Given the description of an element on the screen output the (x, y) to click on. 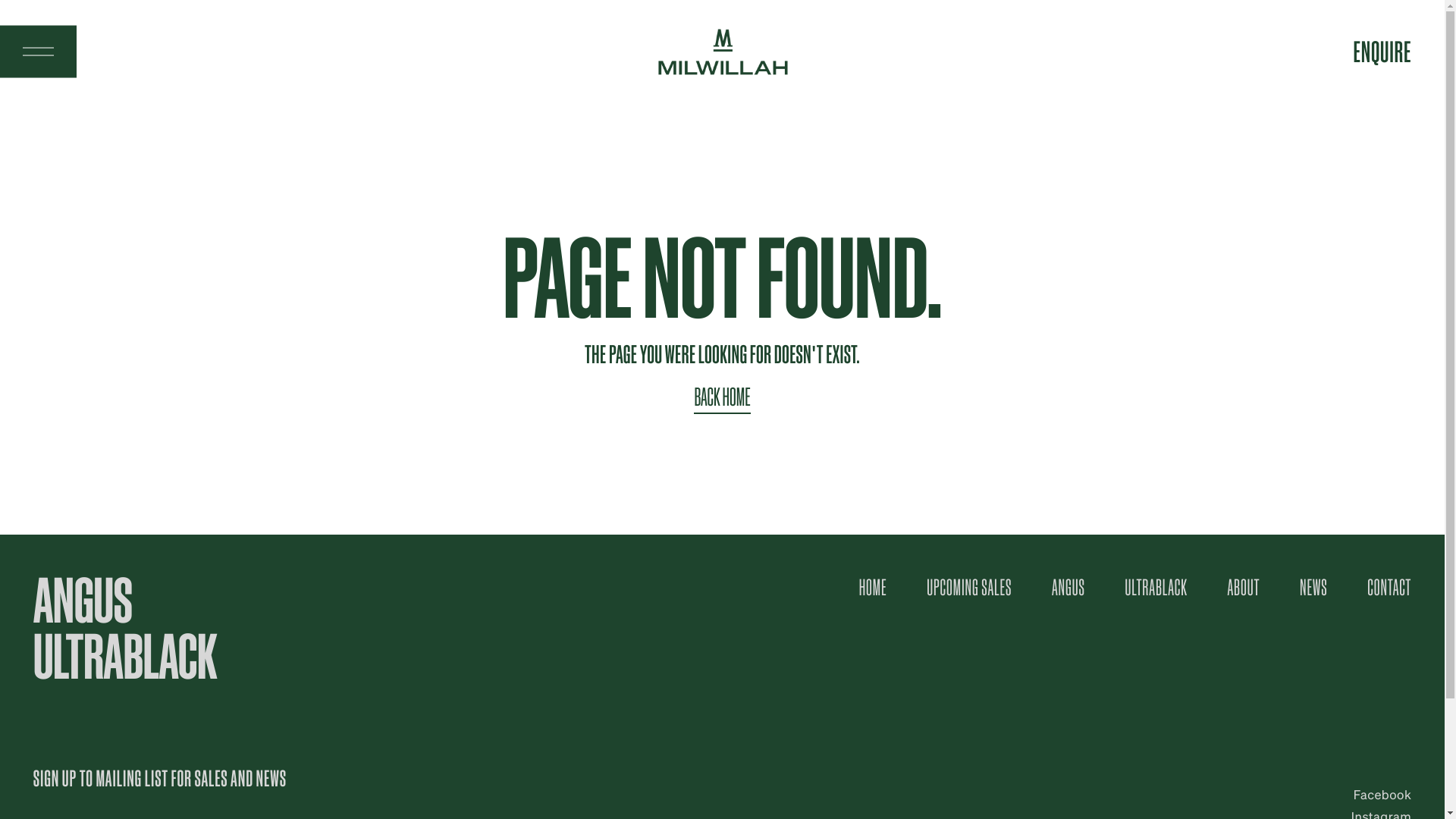
NUR
ENQUIRE Element type: text (1381, 51)
UPCOMING SALES Element type: text (968, 585)
BACK HOME Element type: text (721, 397)
HOME Element type: text (873, 585)
ABOUT Element type: text (1242, 585)
ULTRABLACK Element type: text (1156, 585)
NEWS Element type: text (1313, 585)
ANGUS Element type: text (1068, 585)
Facebook Element type: text (1382, 794)
CONTACT Element type: text (1389, 585)
